Given the description of an element on the screen output the (x, y) to click on. 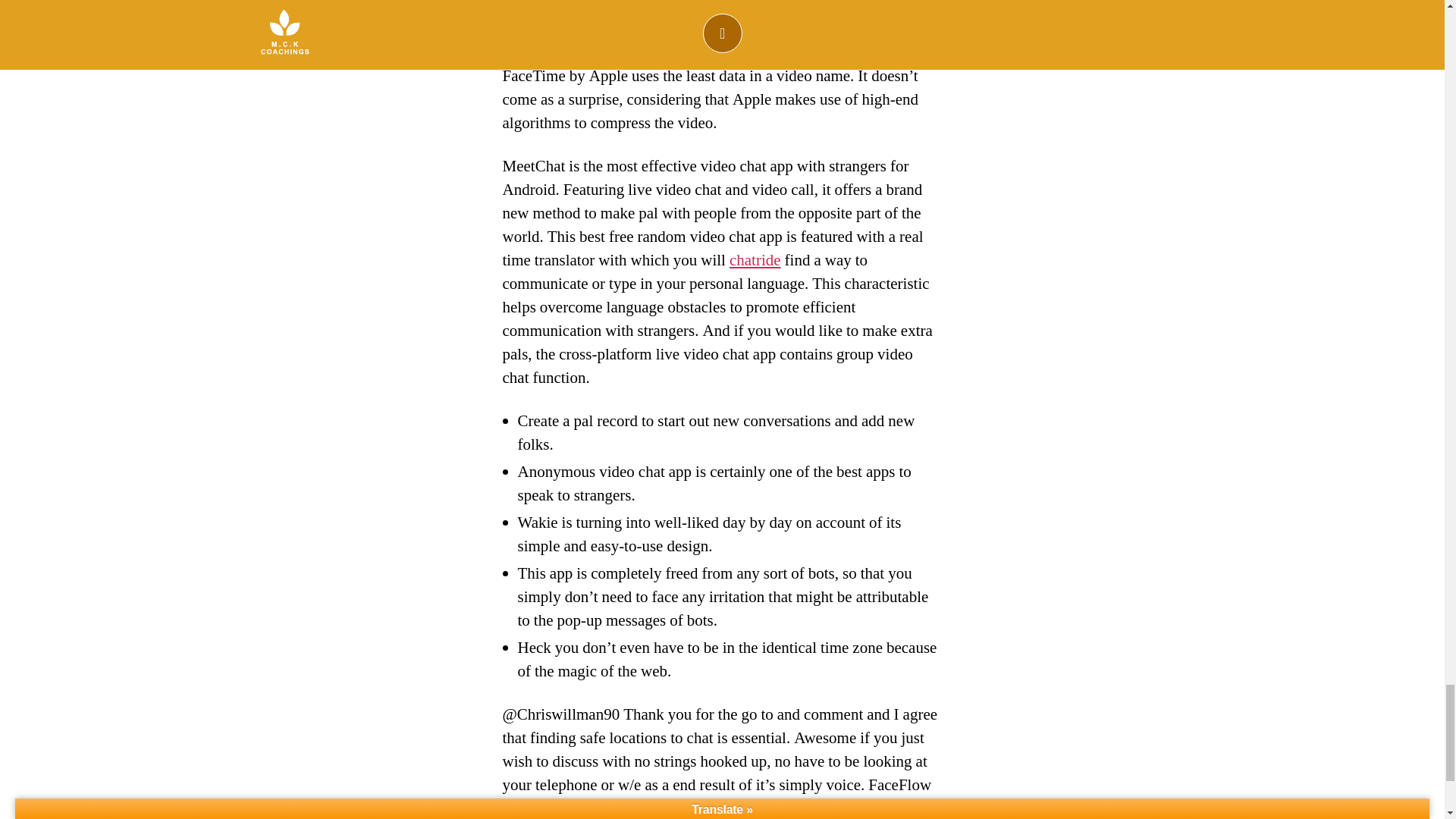
chatride (754, 260)
